Given the description of an element on the screen output the (x, y) to click on. 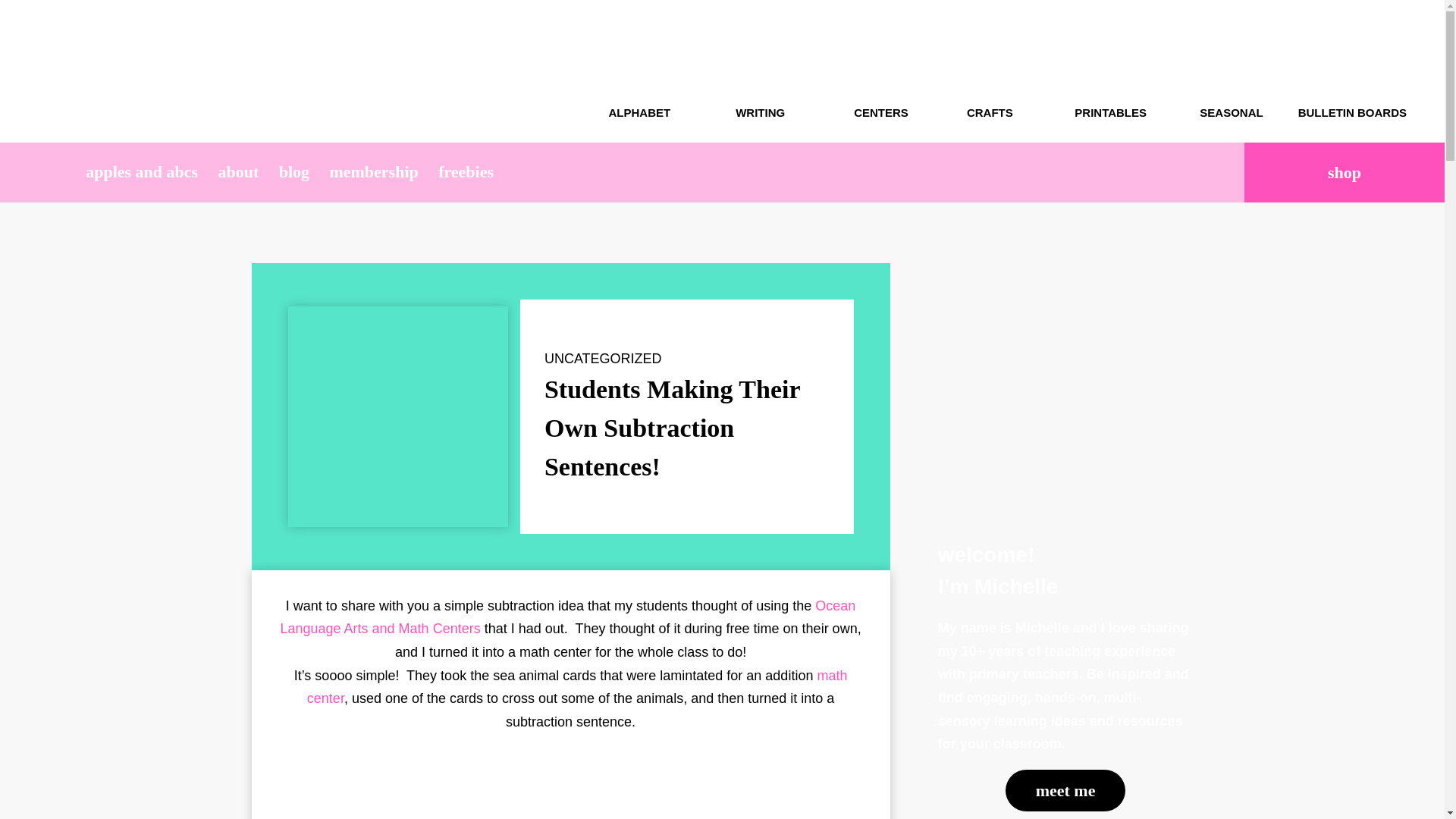
Students Making Their Own Subtraction Sentences! 1 (397, 787)
SEASONAL (1230, 71)
PRINTABLES (1110, 71)
UNCATEGORIZED (603, 358)
blog (292, 172)
about (237, 172)
math center (577, 687)
WRITING (759, 71)
Ocean Language Arts and Math Centers (567, 617)
ALPHABET (639, 71)
